Given the description of an element on the screen output the (x, y) to click on. 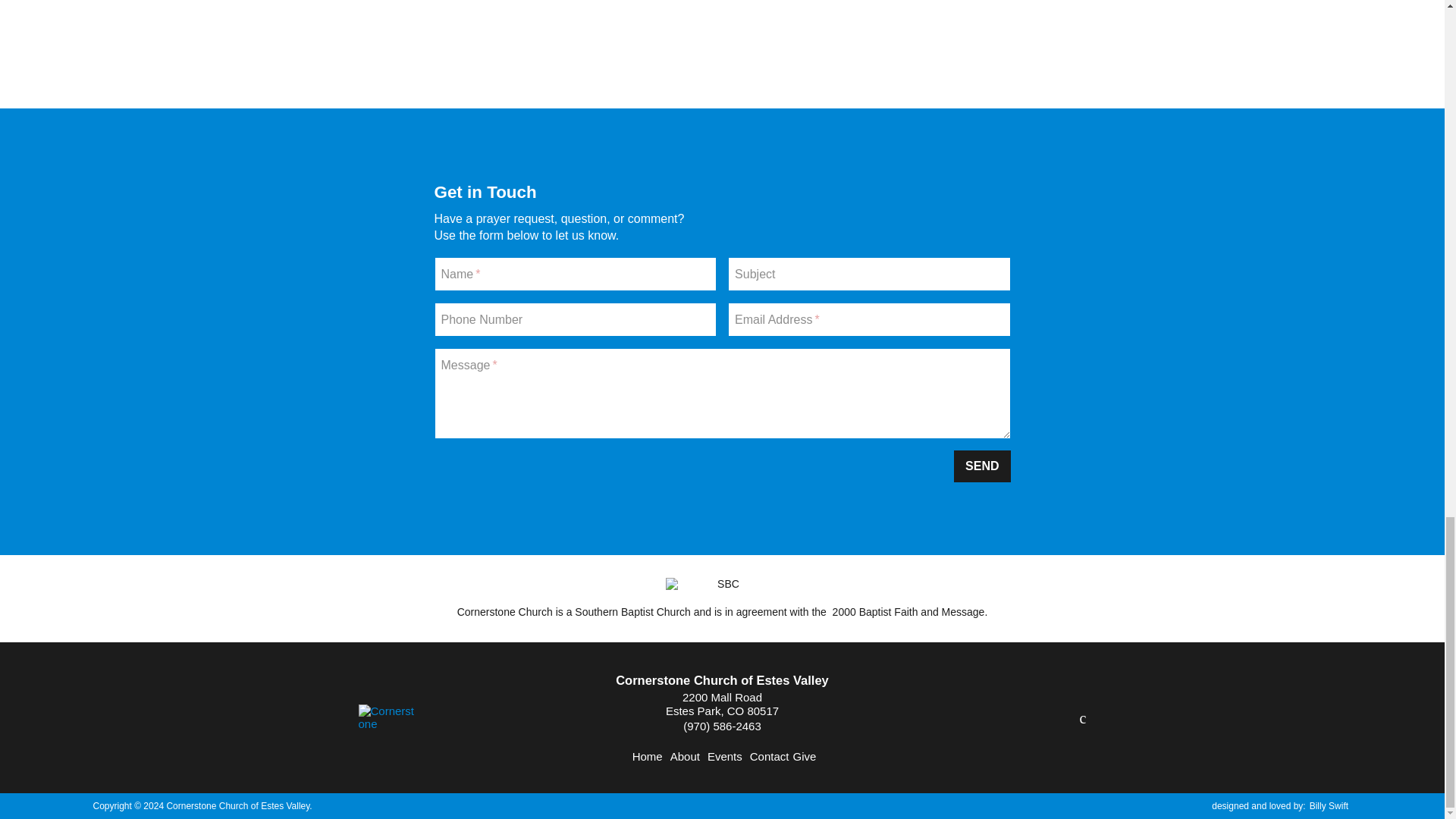
SEND (981, 466)
Give (803, 756)
Home (646, 756)
Billy Swift (1328, 805)
Events (724, 756)
Contact (769, 756)
About (684, 756)
